Given the description of an element on the screen output the (x, y) to click on. 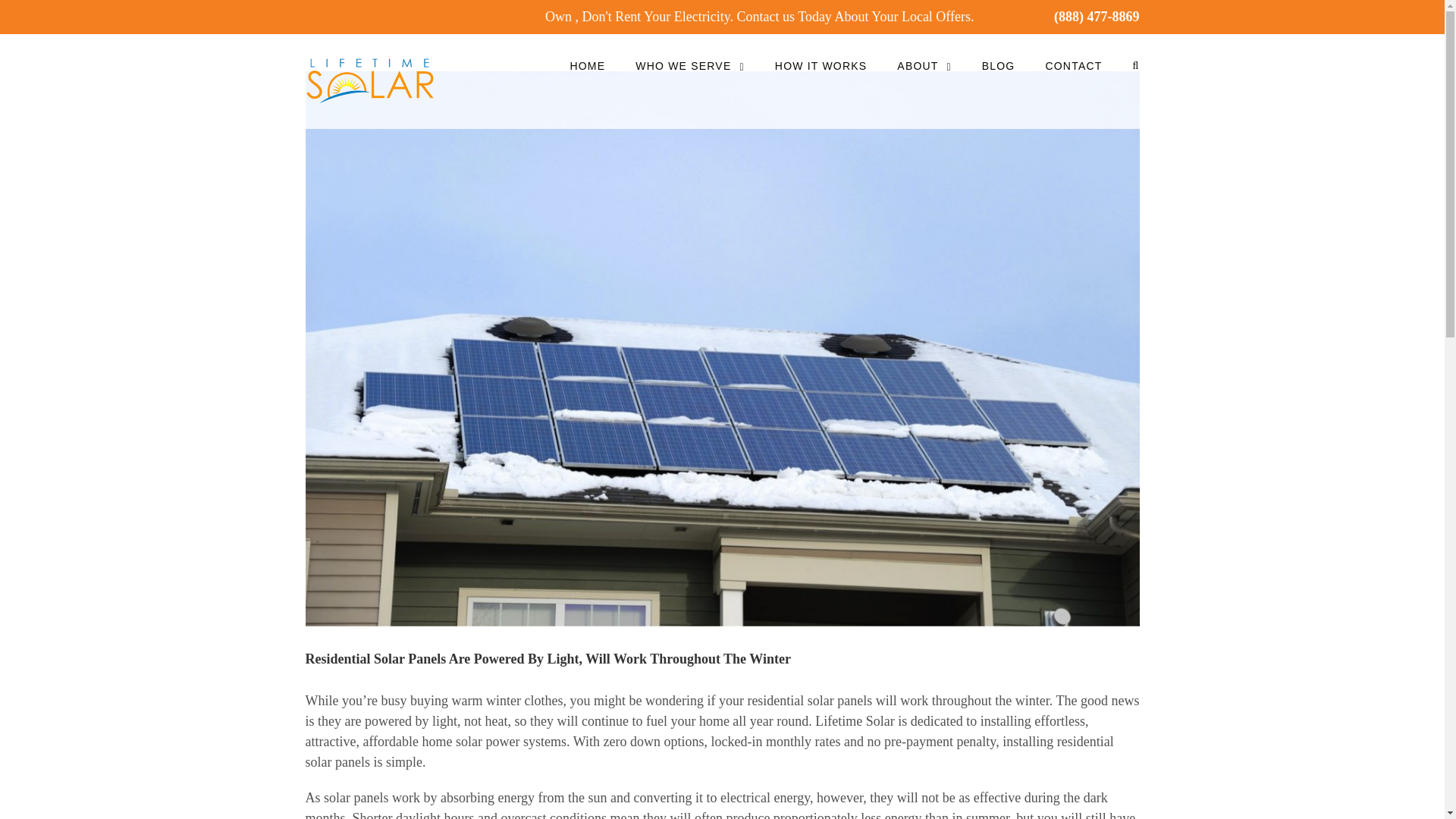
Previous (1060, 13)
HOW IT WORKS (820, 56)
WHO WE SERVE (689, 56)
ABOUT (923, 56)
Next (1112, 13)
CONTACT (1073, 56)
